Given the description of an element on the screen output the (x, y) to click on. 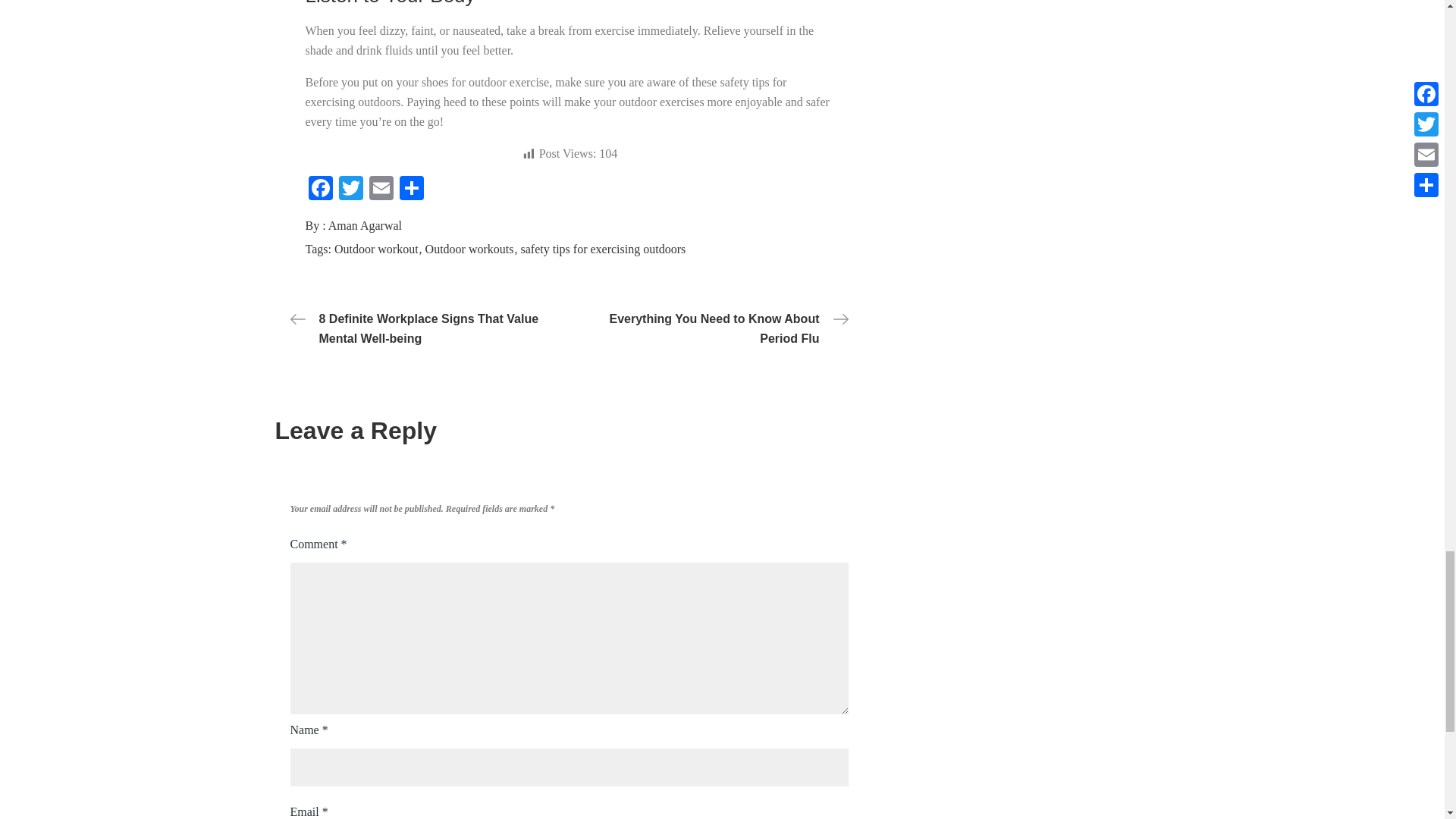
Share (411, 189)
Facebook (319, 189)
Email (380, 189)
Twitter (349, 189)
Aman Agarwal (365, 225)
Outdoor workout (378, 248)
Email (380, 189)
safety tips for exercising outdoors (602, 248)
Twitter (349, 189)
Outdoor workouts (471, 248)
Facebook (319, 189)
